Given the description of an element on the screen output the (x, y) to click on. 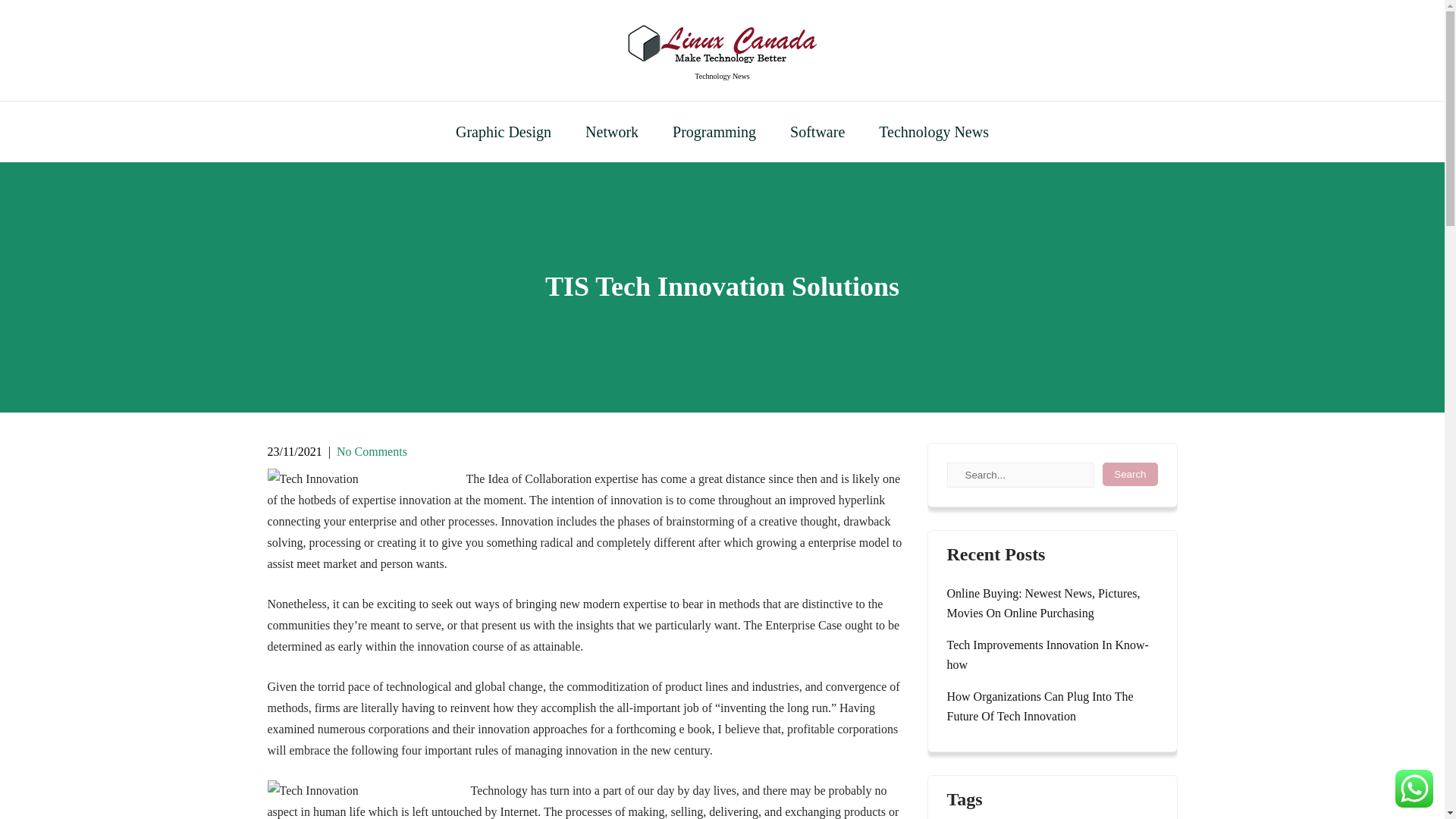
Software (817, 131)
Network (611, 131)
Graphic Design (503, 131)
Programming (714, 131)
Search (1129, 474)
Technology News (721, 76)
Technology News (933, 131)
Tech Improvements Innovation In Know-how (1051, 654)
Search (1129, 474)
